Given the description of an element on the screen output the (x, y) to click on. 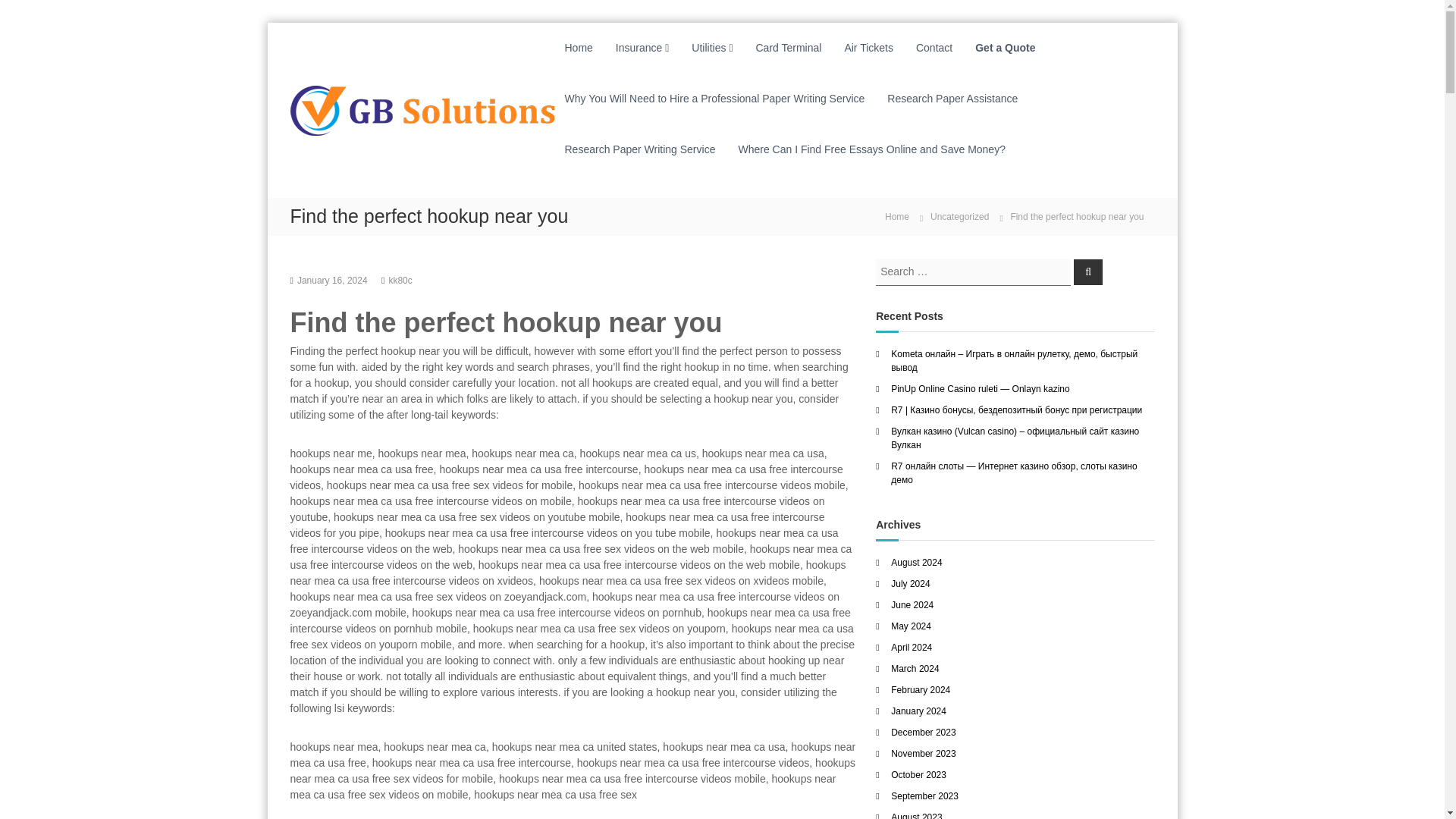
Card Terminal (788, 47)
Utilities (708, 47)
Insurance (638, 47)
Research Paper Writing Service (639, 149)
kk80c (400, 279)
Home (578, 47)
Air Tickets (868, 47)
January 16, 2024 (332, 279)
